Given the description of an element on the screen output the (x, y) to click on. 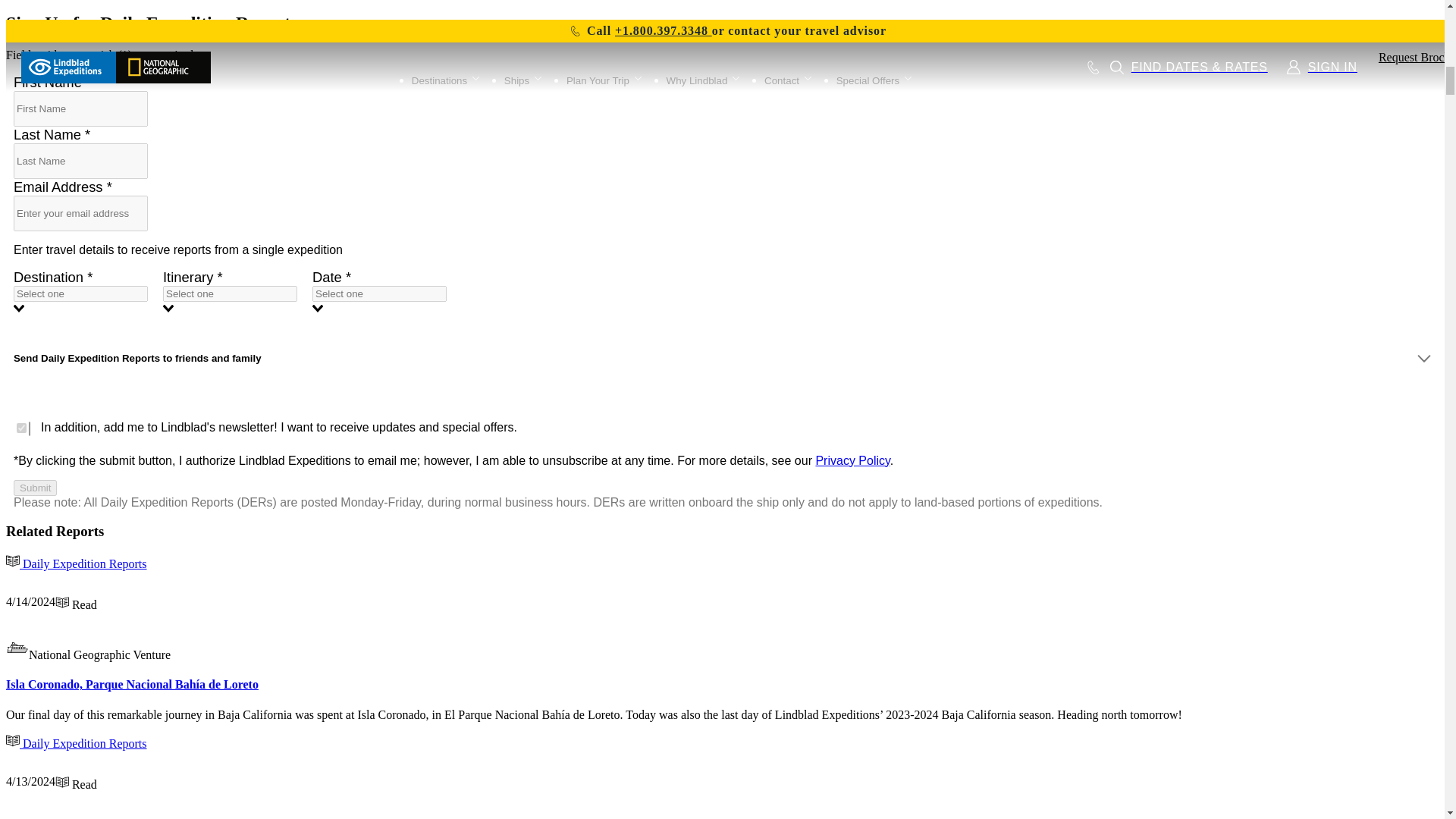
on (21, 428)
